Given the description of an element on the screen output the (x, y) to click on. 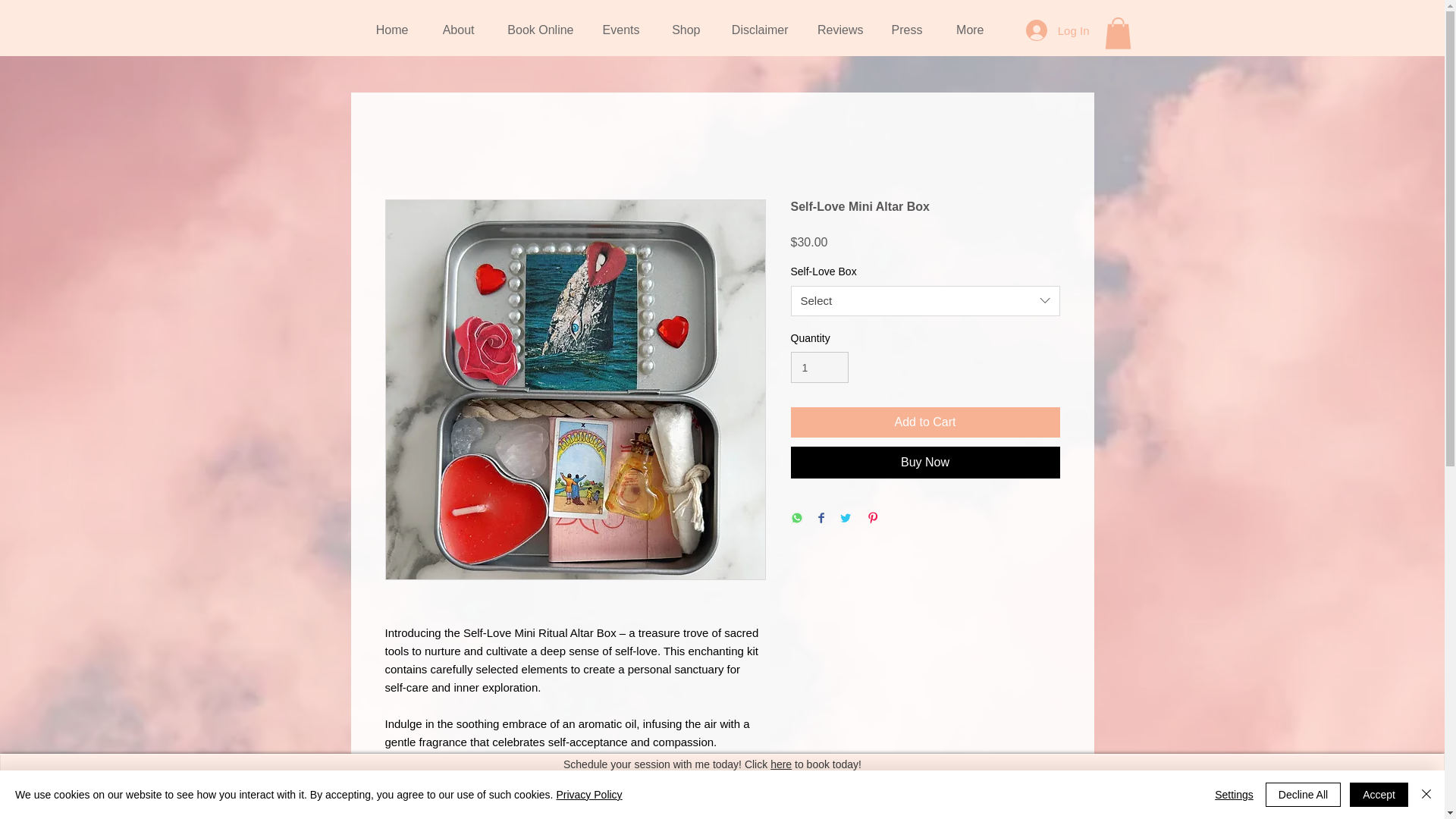
Press (904, 30)
1 (818, 367)
Privacy Policy (588, 794)
Events (617, 30)
About (453, 30)
Book Online (534, 30)
Disclaimer (755, 30)
here (781, 764)
Shop (680, 30)
Reviews (837, 30)
Accept (1378, 794)
Decline All (1302, 794)
Log In (1057, 30)
Select (924, 300)
Buy Now (924, 462)
